Given the description of an element on the screen output the (x, y) to click on. 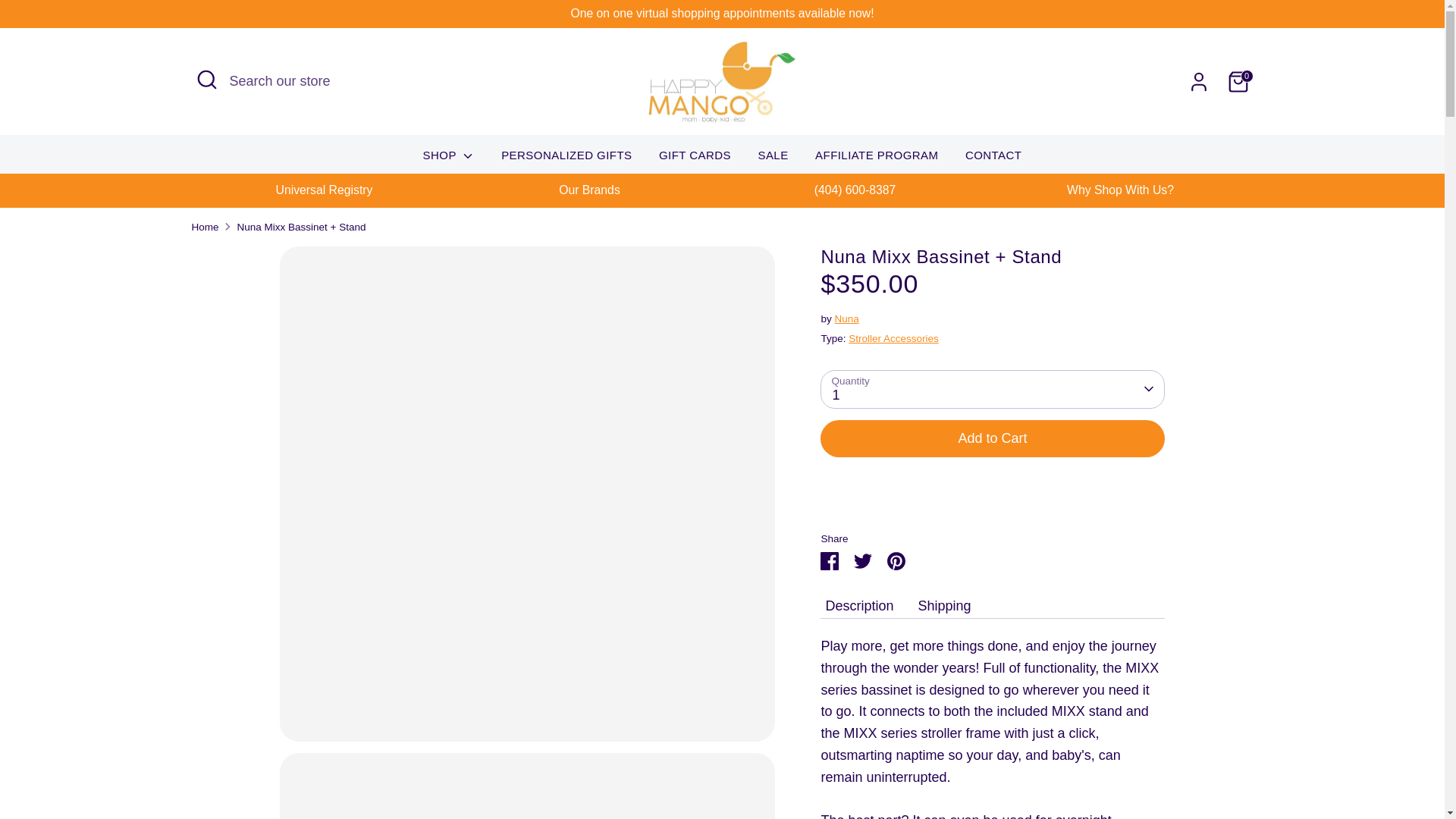
Mastercard (1145, 767)
JCB (1114, 767)
American Express (1024, 767)
Diners Club (1054, 767)
Discover (1084, 767)
0 (1237, 81)
About us (1136, 476)
PayPal (1176, 767)
